Given the description of an element on the screen output the (x, y) to click on. 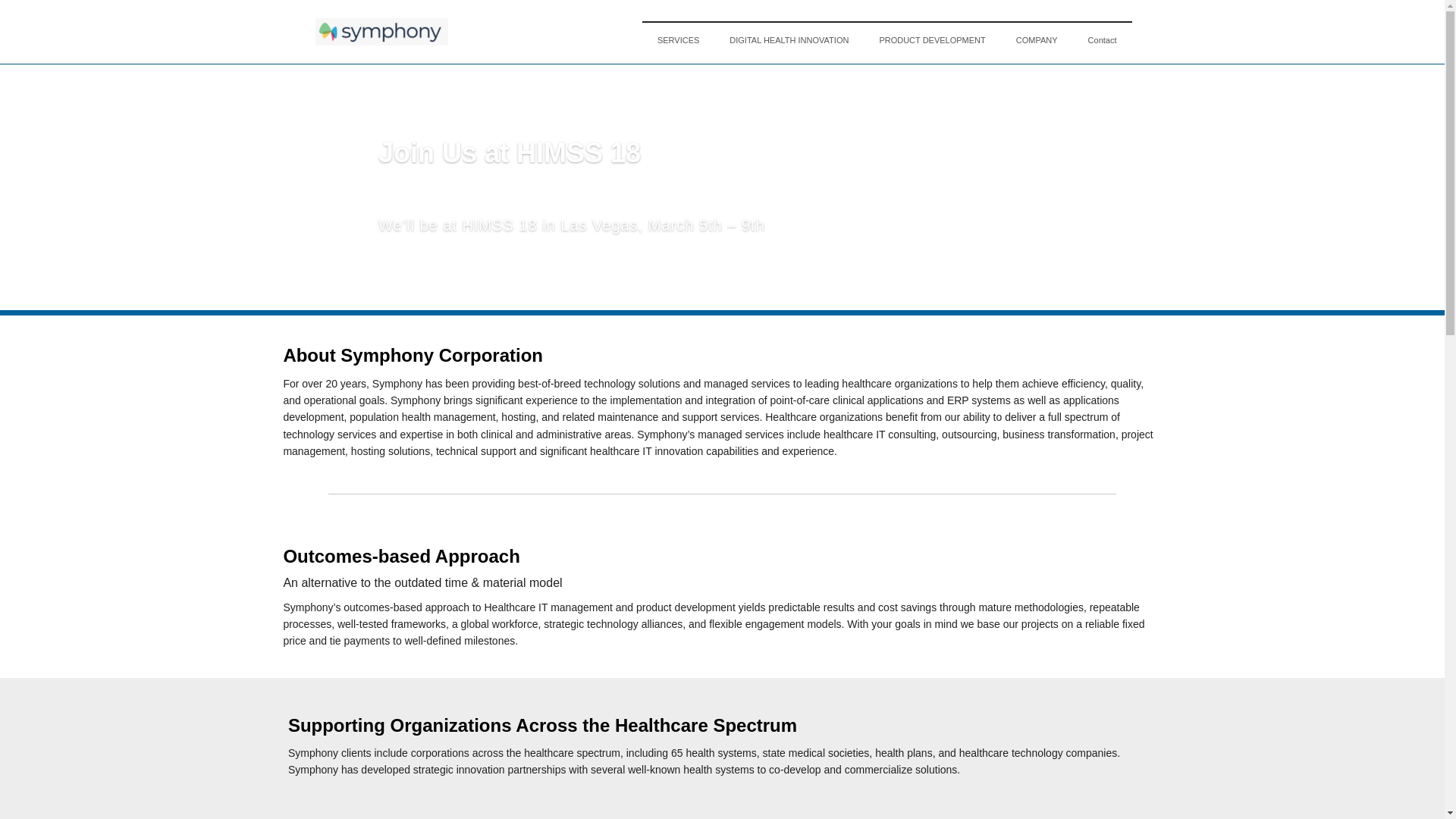
DIGITAL HEALTH INNOVATION (788, 39)
COMPANY (1037, 39)
Contact (1102, 39)
Join Us at HIMSS 18 (509, 177)
PRODUCT DEVELOPMENT (931, 39)
SERVICES (678, 39)
